Given the description of an element on the screen output the (x, y) to click on. 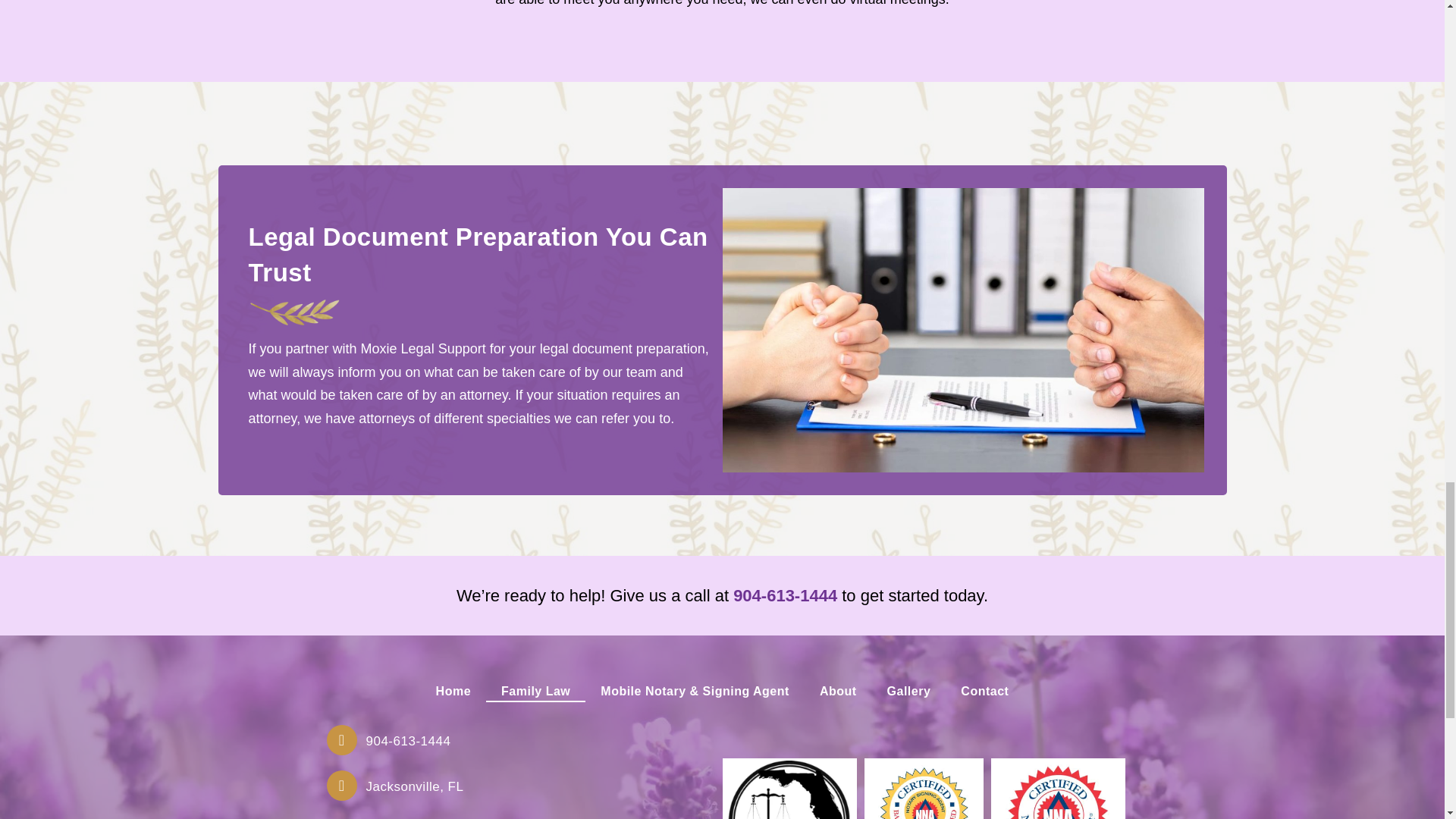
About (838, 690)
904-613-1444 (785, 595)
Home (453, 690)
Contact (983, 690)
Gallery (909, 690)
Family Law (535, 690)
